Given the description of an element on the screen output the (x, y) to click on. 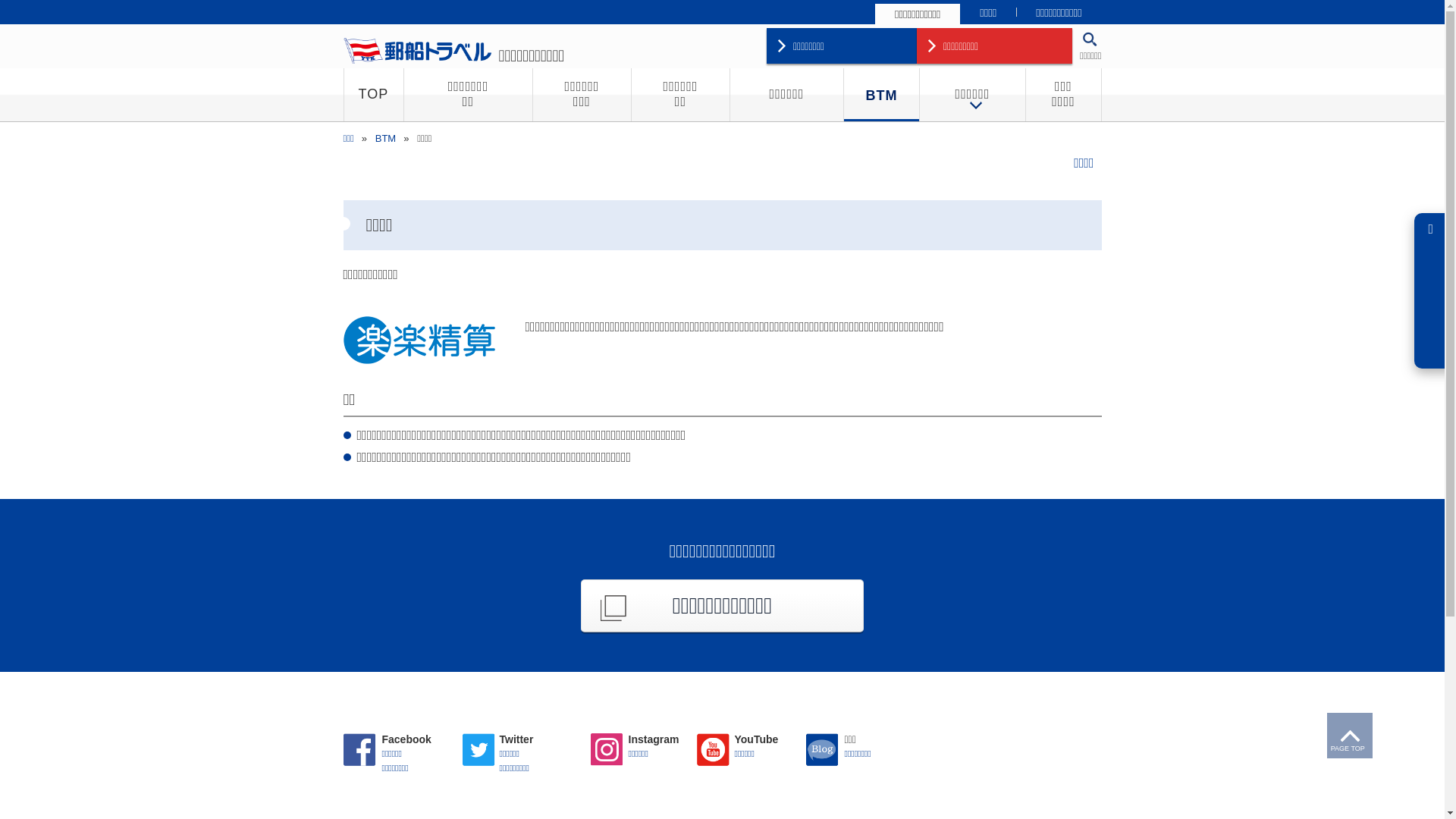
TOP Element type: text (372, 94)
Instagram Element type: text (606, 749)
BTM Element type: text (881, 94)
  PAGE TOP Element type: text (1349, 735)
BTM Element type: text (385, 138)
